Given the description of an element on the screen output the (x, y) to click on. 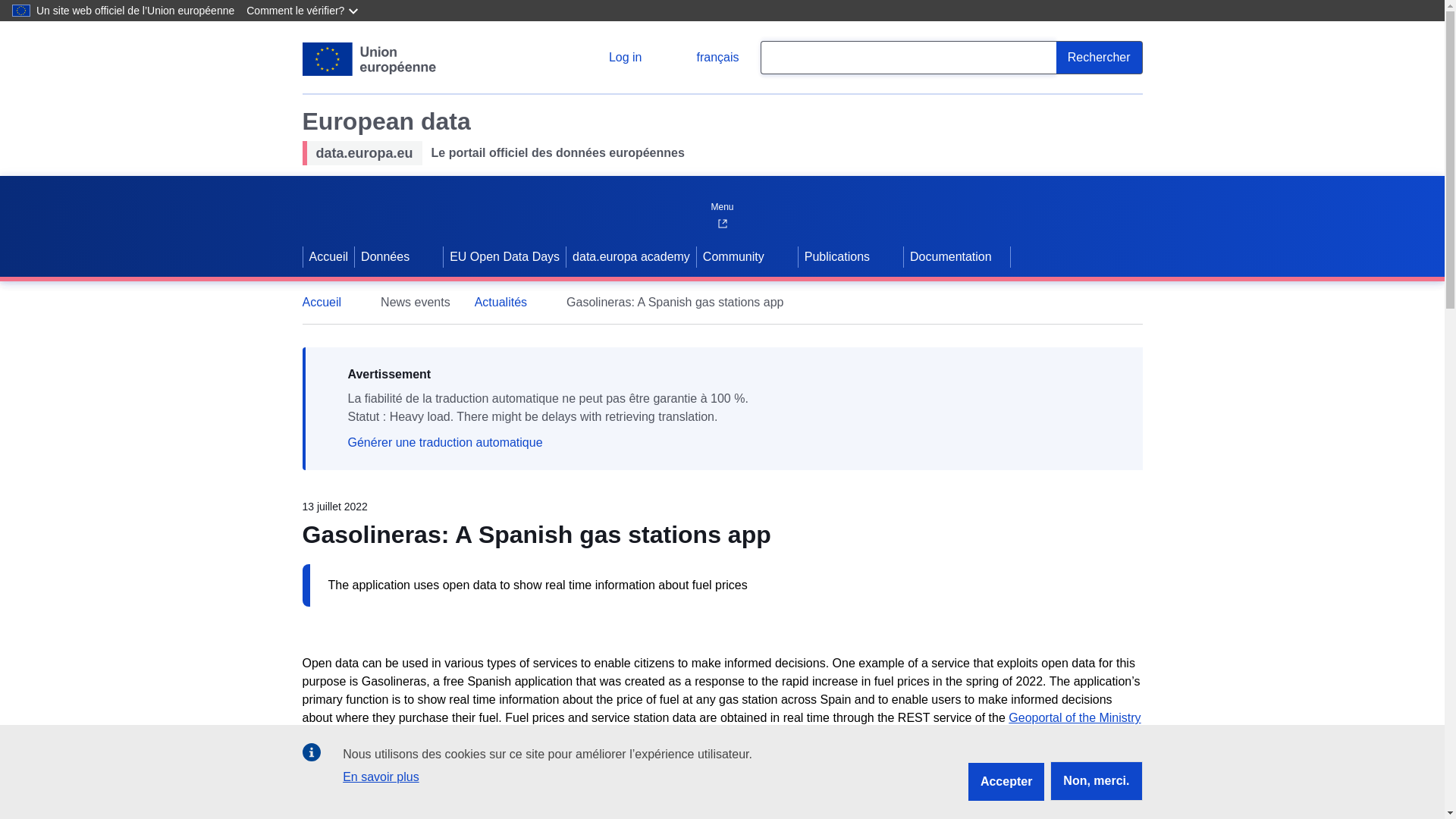
data.europa academy (630, 256)
Documentation (957, 256)
European Union (368, 59)
EU Open Data Days (505, 256)
Menu (721, 203)
Accueil (328, 302)
Rechercher (1099, 57)
Log in (612, 57)
Accueil (328, 256)
Community (732, 256)
